Given the description of an element on the screen output the (x, y) to click on. 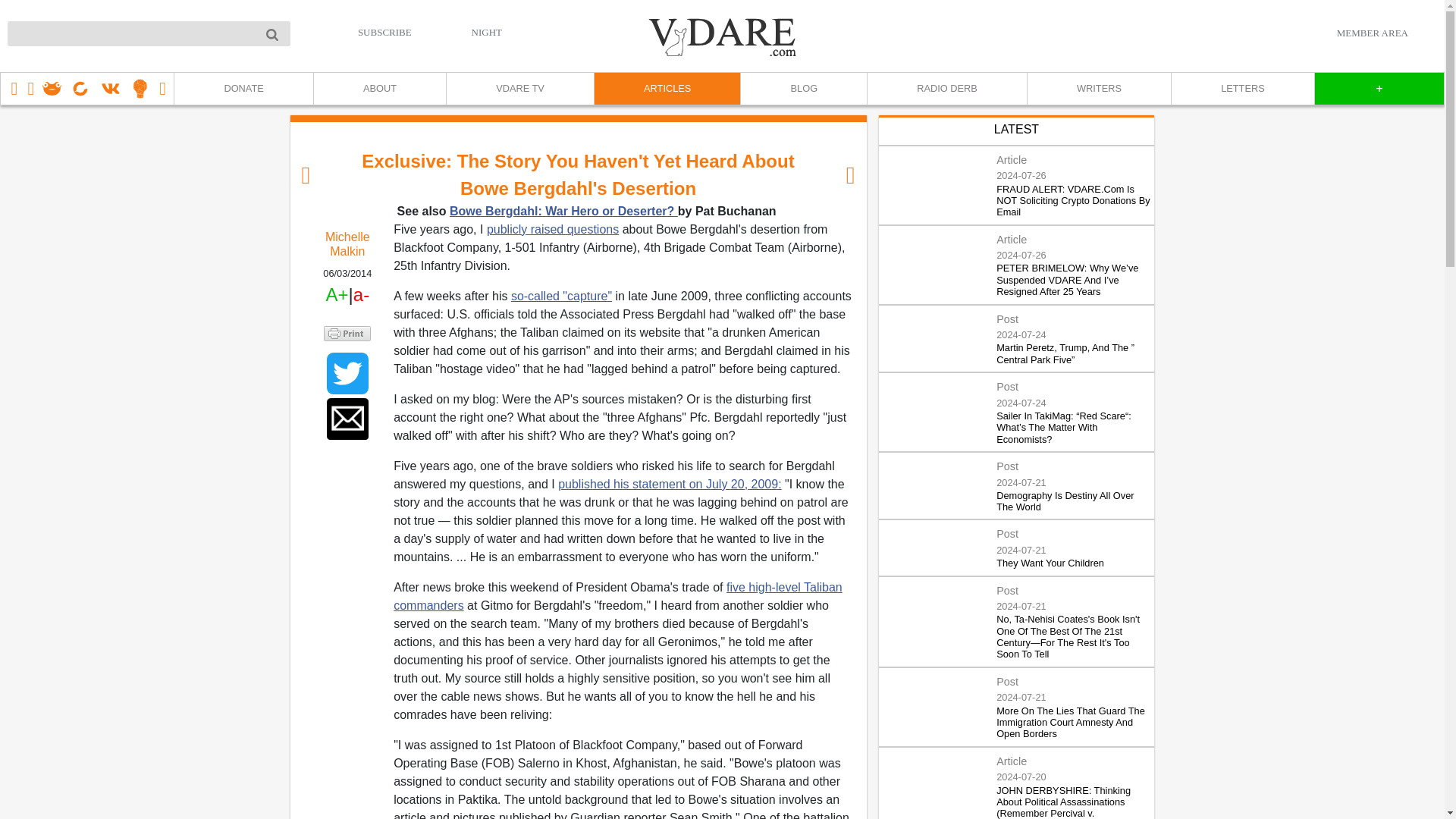
ARTICLES (666, 88)
WRITERS (1098, 88)
LETTERS (1242, 88)
DONATE (243, 88)
BLOG (802, 88)
RADIO DERB (946, 88)
VDARE TV (519, 88)
Share to Email (347, 418)
ABOUT (379, 88)
MEMBER AREA (1371, 32)
Printer Friendly and PDF (347, 333)
SUBSCRIBE (385, 31)
Share to Twitter (347, 372)
